Given the description of an element on the screen output the (x, y) to click on. 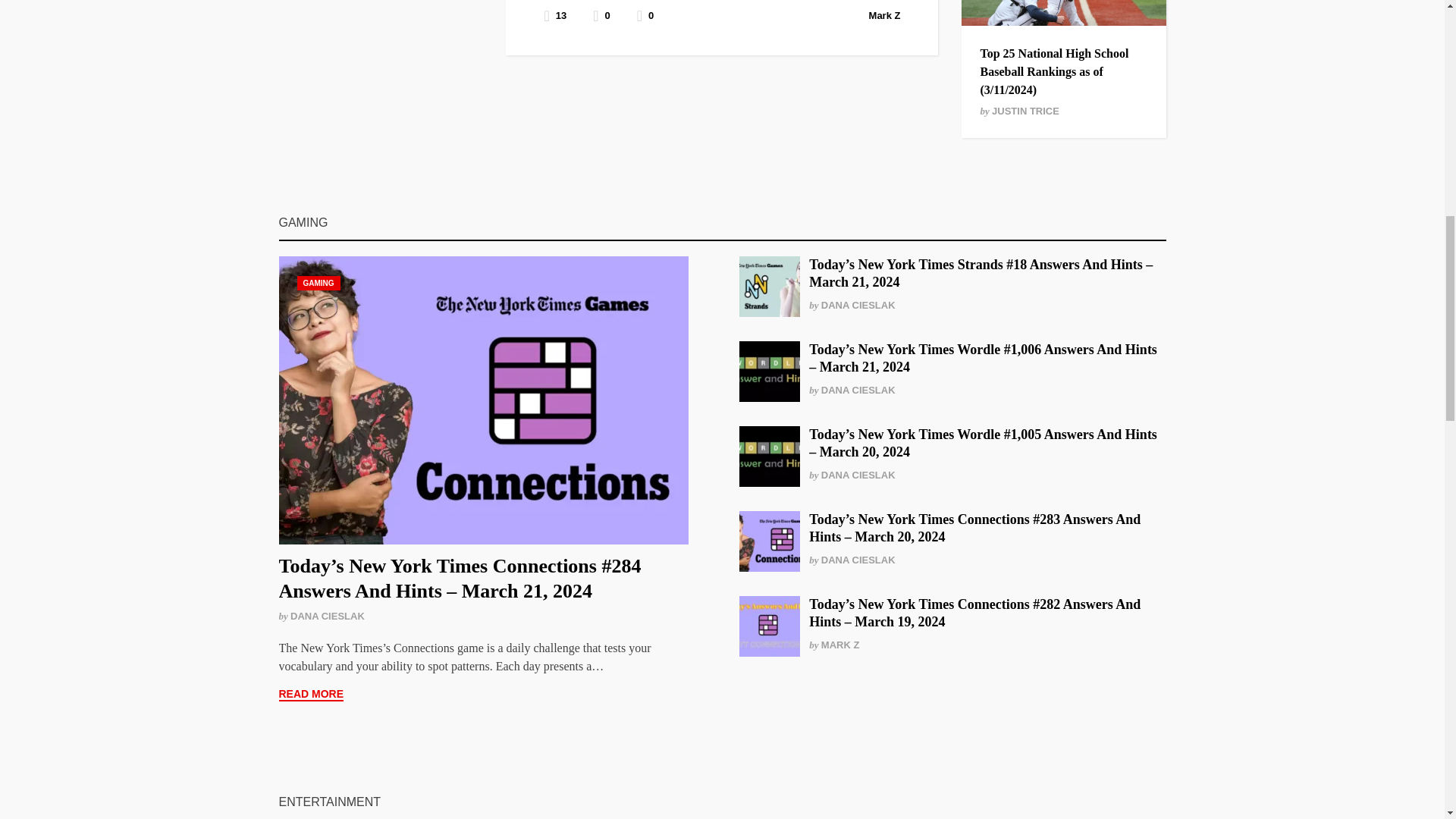
0 (645, 15)
Like this (645, 15)
JUSTIN TRICE (1025, 111)
Mark Z (885, 15)
